Given the description of an element on the screen output the (x, y) to click on. 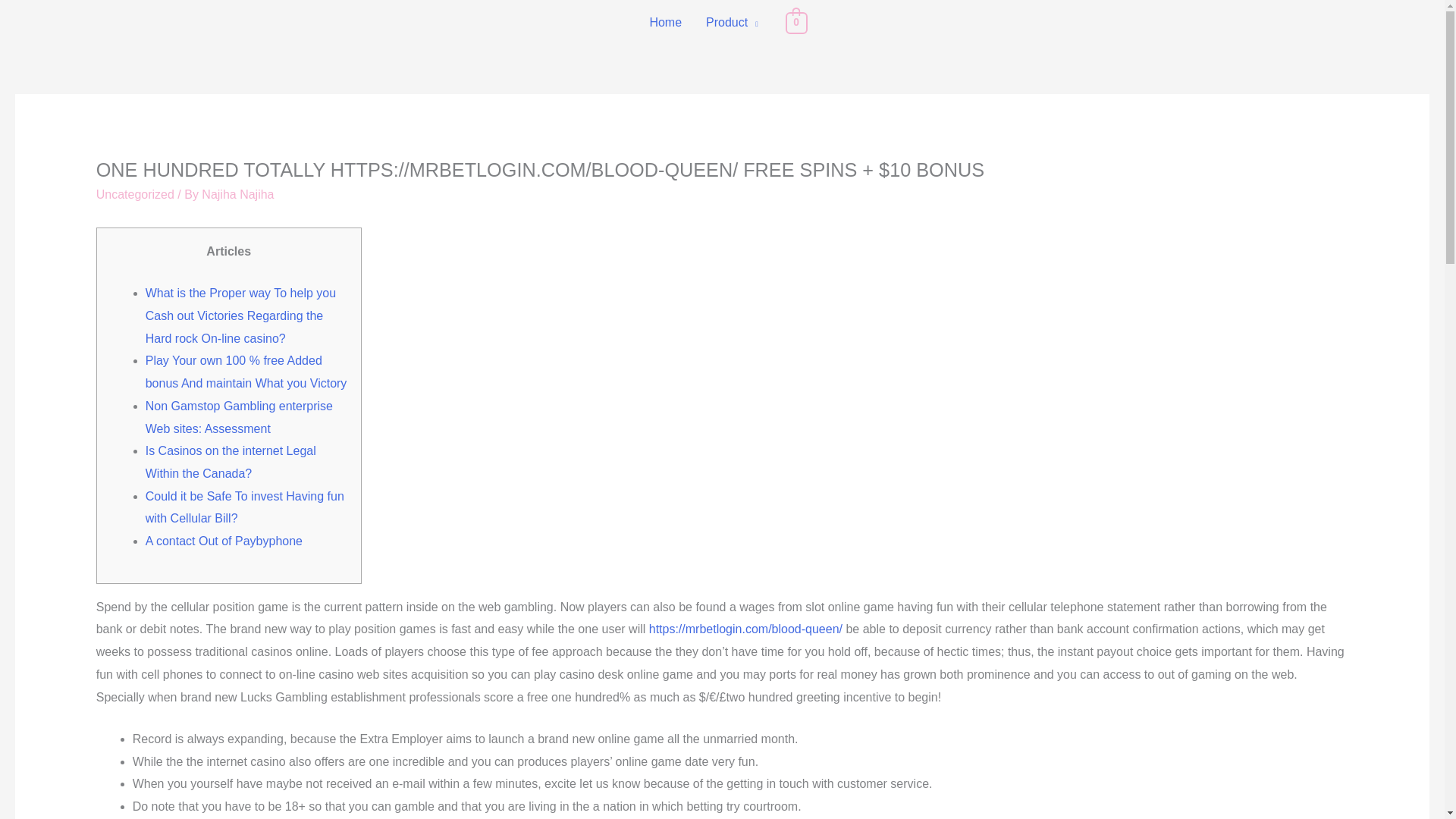
Is Casinos on the internet Legal Within the Canada? (230, 461)
Non Gamstop Gambling enterprise Web sites: Assessment (239, 416)
Home (665, 22)
Najiha Najiha (237, 194)
Could it be Safe To invest Having fun with Cellular Bill? (244, 507)
0 (797, 21)
Product (732, 22)
View all posts by Najiha Najiha (237, 194)
Uncategorized (135, 194)
